Given the description of an element on the screen output the (x, y) to click on. 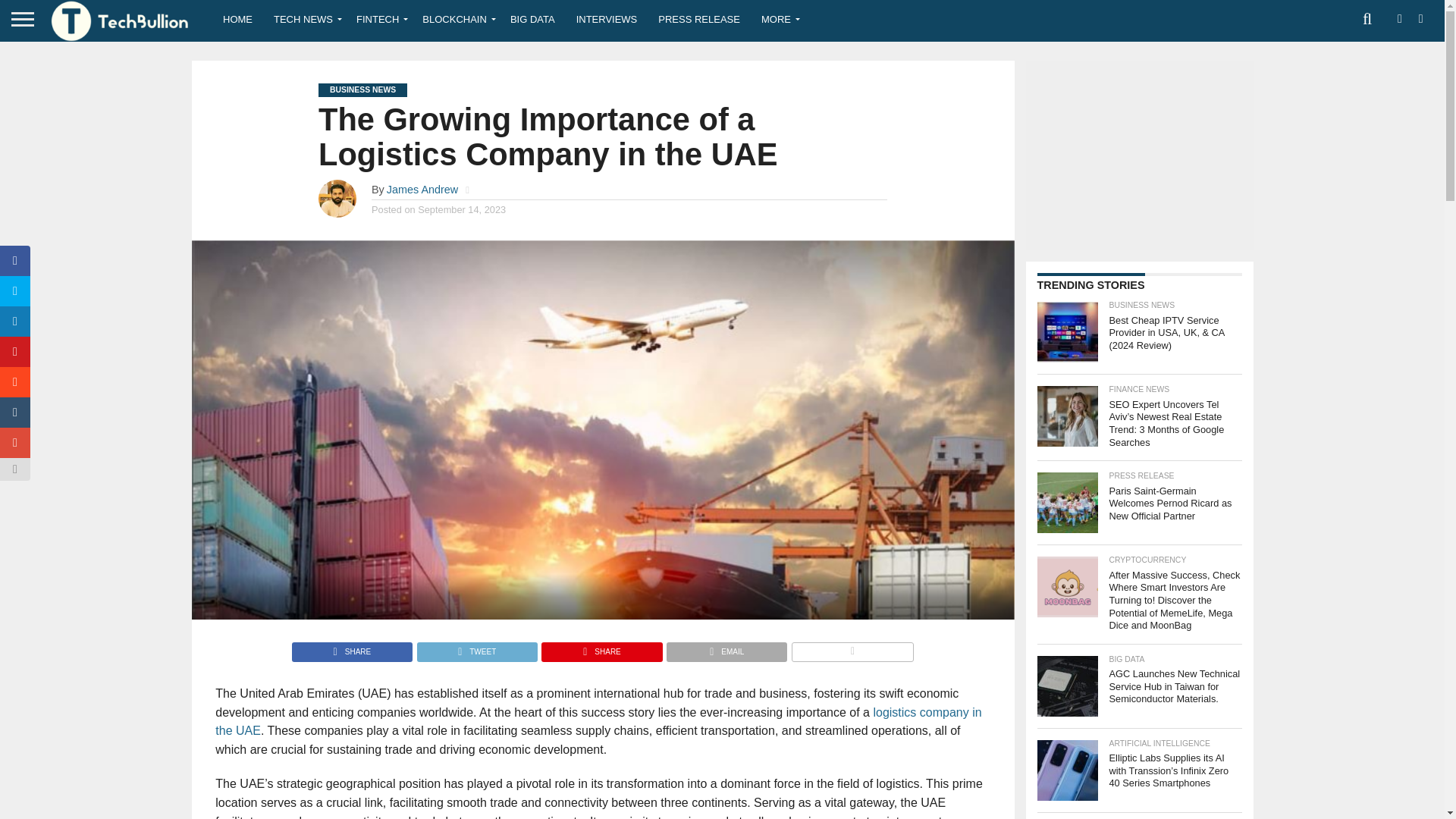
Share on Facebook (352, 647)
Pin This Post (601, 647)
Tweet This Post (476, 647)
Posts by James Andrew (422, 189)
